Given the description of an element on the screen output the (x, y) to click on. 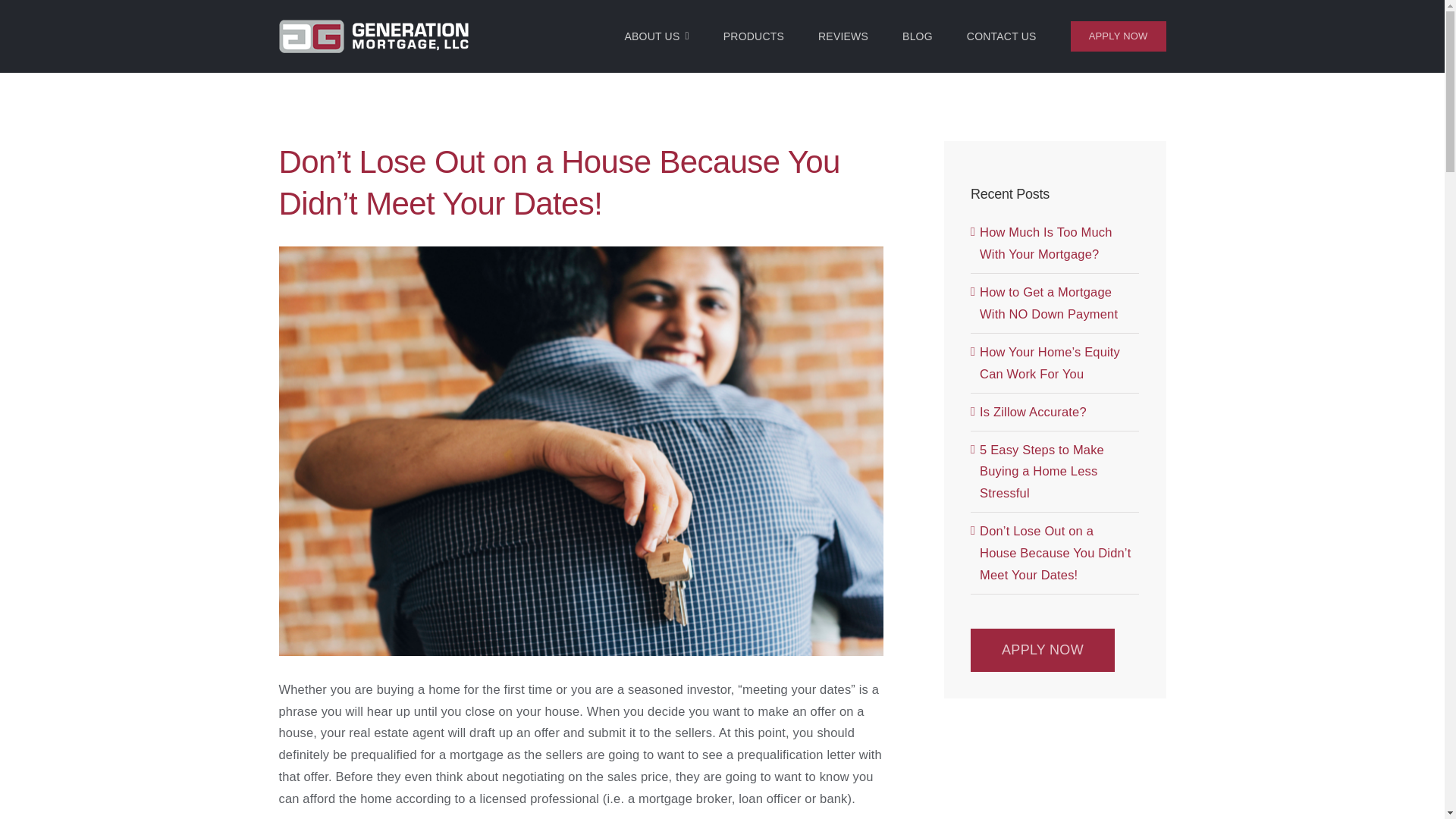
APPLY NOW (1118, 36)
How Much Is Too Much With Your Mortgage? (1045, 243)
APPLY NOW (1043, 649)
5 Easy Steps to Make Buying a Home Less Stressful (1041, 471)
Is Zillow Accurate? (1032, 411)
How to Get a Mortgage With NO Down Payment (1048, 303)
CONTACT US (1001, 36)
